Given the description of an element on the screen output the (x, y) to click on. 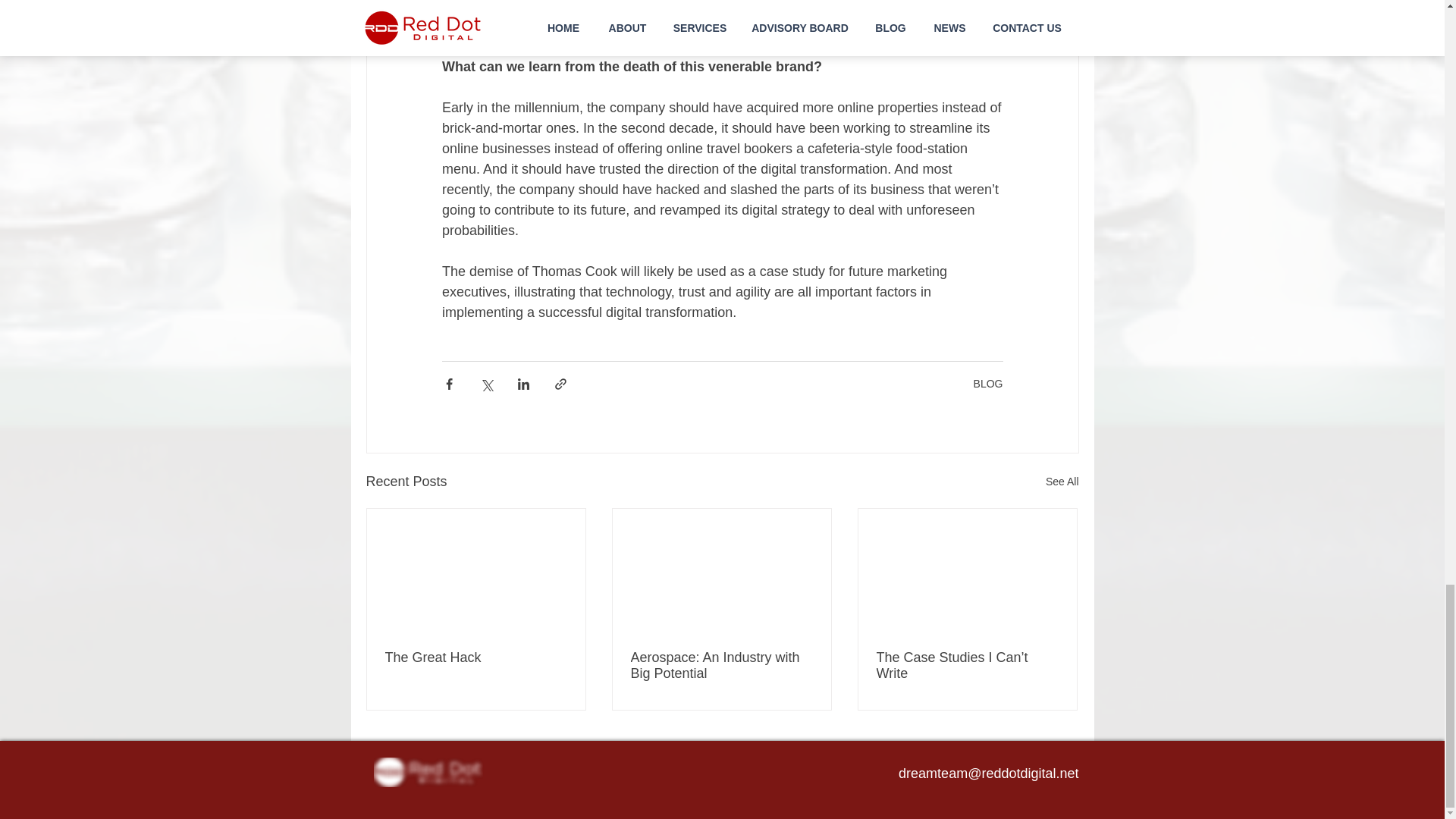
See All (1061, 481)
The Great Hack (476, 657)
Aerospace: An Industry with Big Potential (721, 664)
BLOG (988, 383)
